Given the description of an element on the screen output the (x, y) to click on. 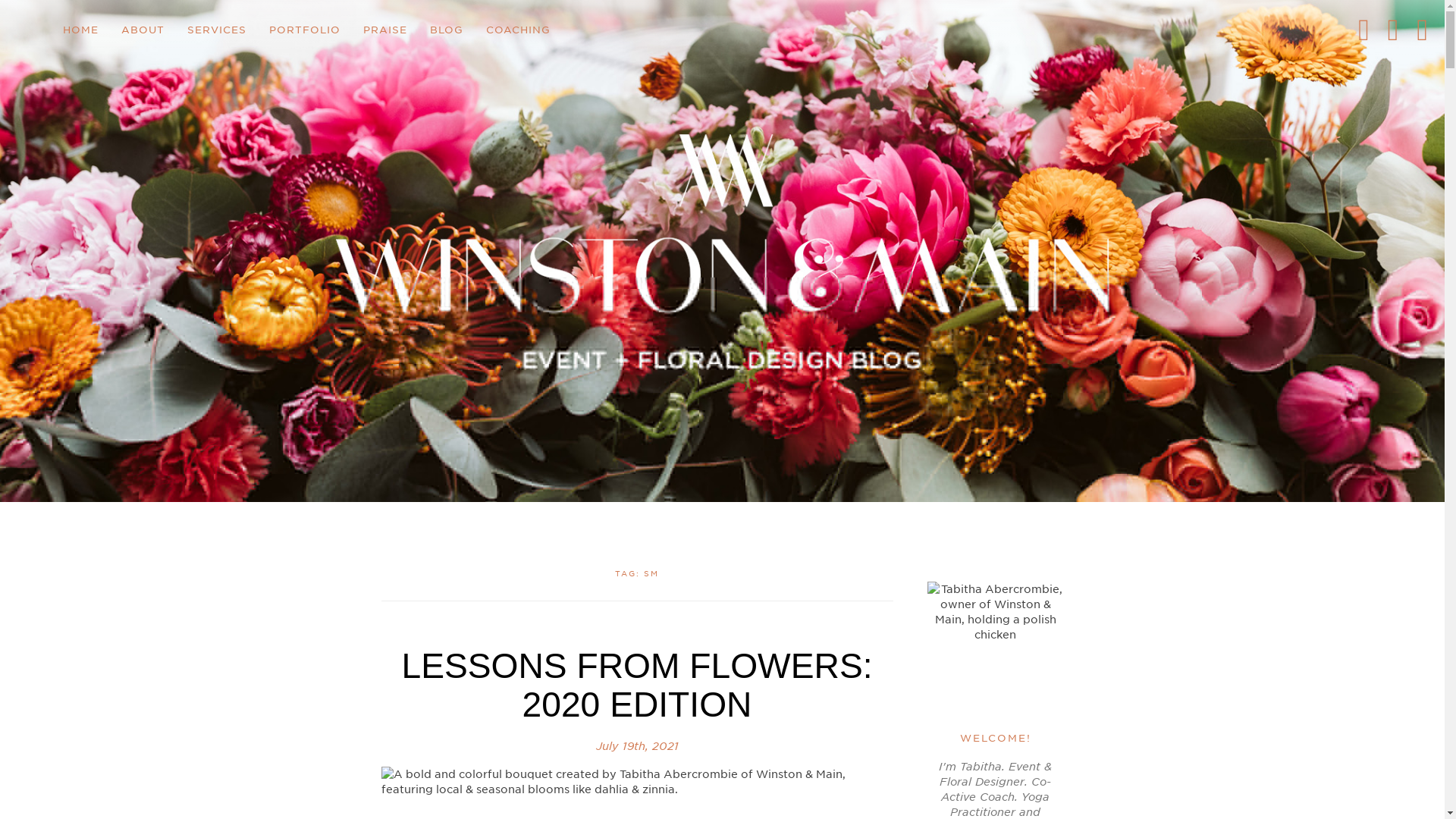
HOME (80, 29)
ABOUT (142, 29)
COACHING (518, 29)
PORTFOLIO (304, 29)
SERVICES (216, 29)
PRAISE (384, 29)
LESSONS FROM FLOWERS: 2020 EDITION (636, 684)
BLOG (446, 29)
